Given the description of an element on the screen output the (x, y) to click on. 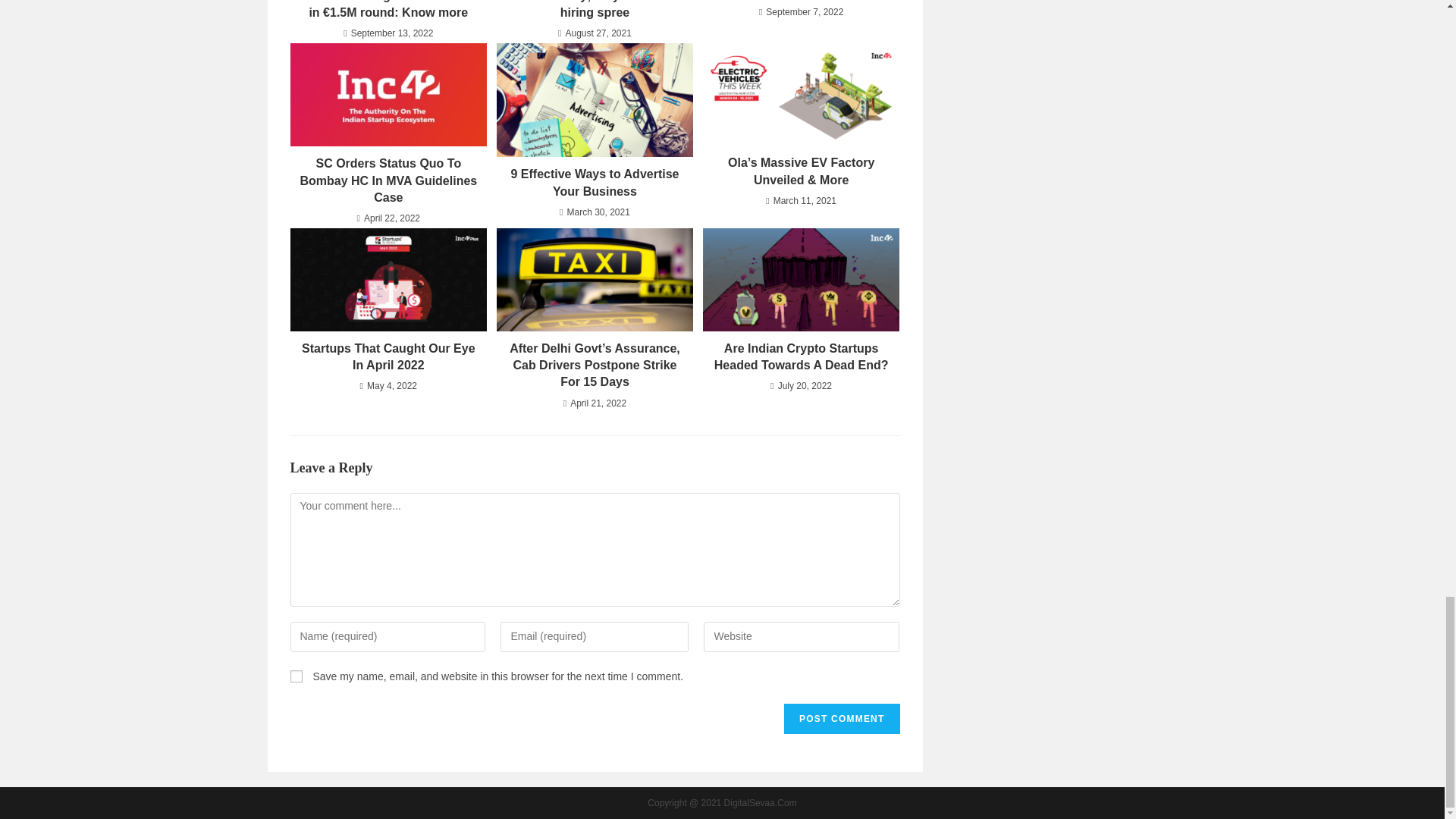
SC Orders Status Quo To Bombay HC In MVA Guidelines Case (387, 180)
Post Comment (841, 718)
Are Indian Crypto Startups Headed Towards A Dead End? (801, 356)
yes (295, 676)
Post Comment (841, 718)
9 Effective Ways to Advertise Your Business (594, 182)
Startups That Caught Our Eye In April 2022 (387, 356)
